Given the description of an element on the screen output the (x, y) to click on. 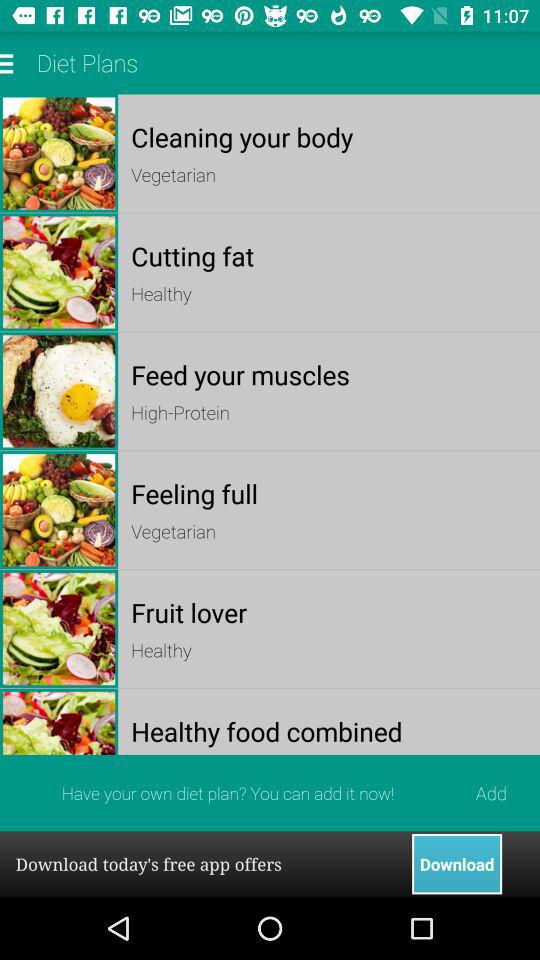
open the app below diet plans app (328, 136)
